Given the description of an element on the screen output the (x, y) to click on. 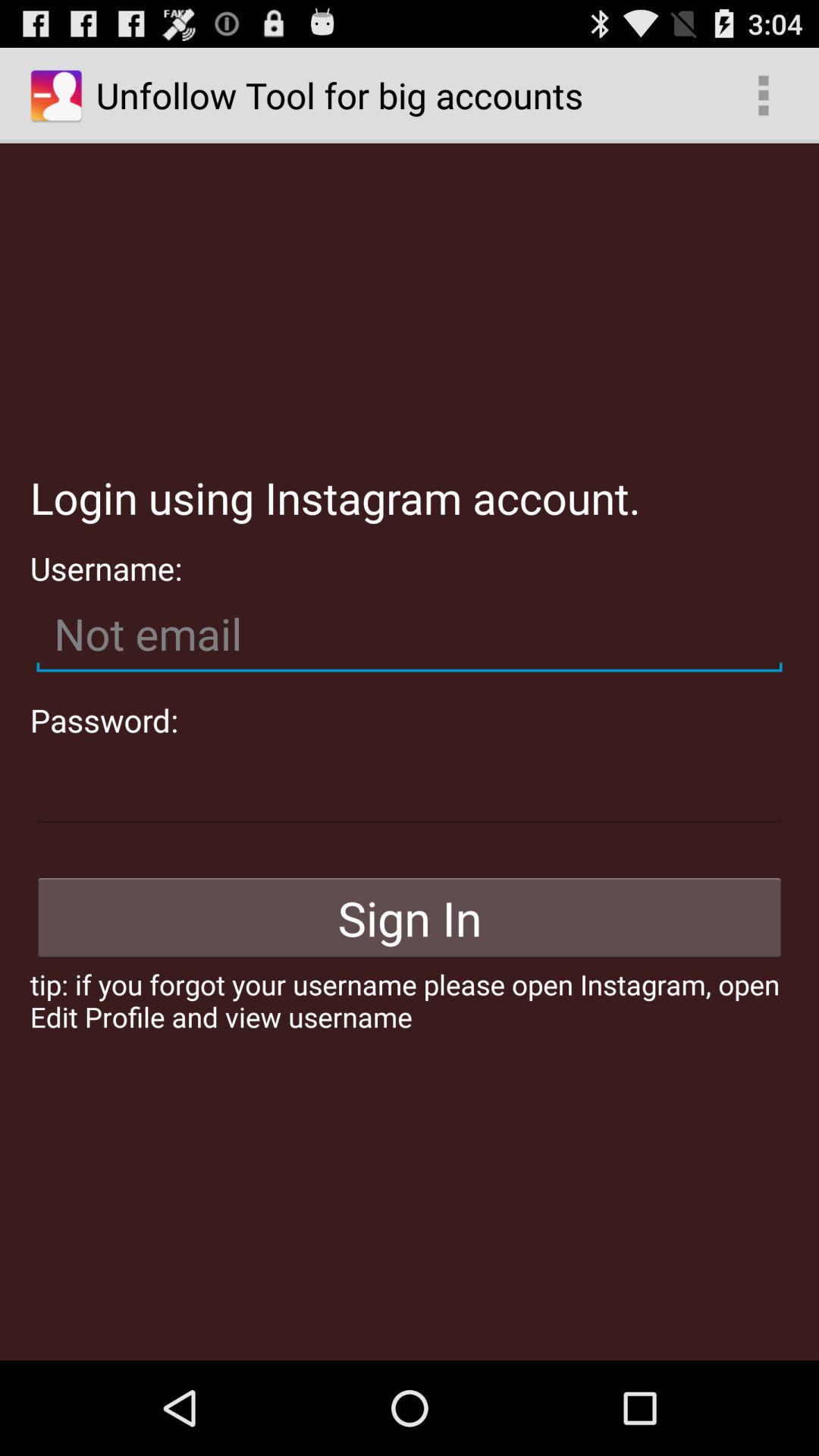
turn off the item above the login using instagram icon (763, 95)
